Given the description of an element on the screen output the (x, y) to click on. 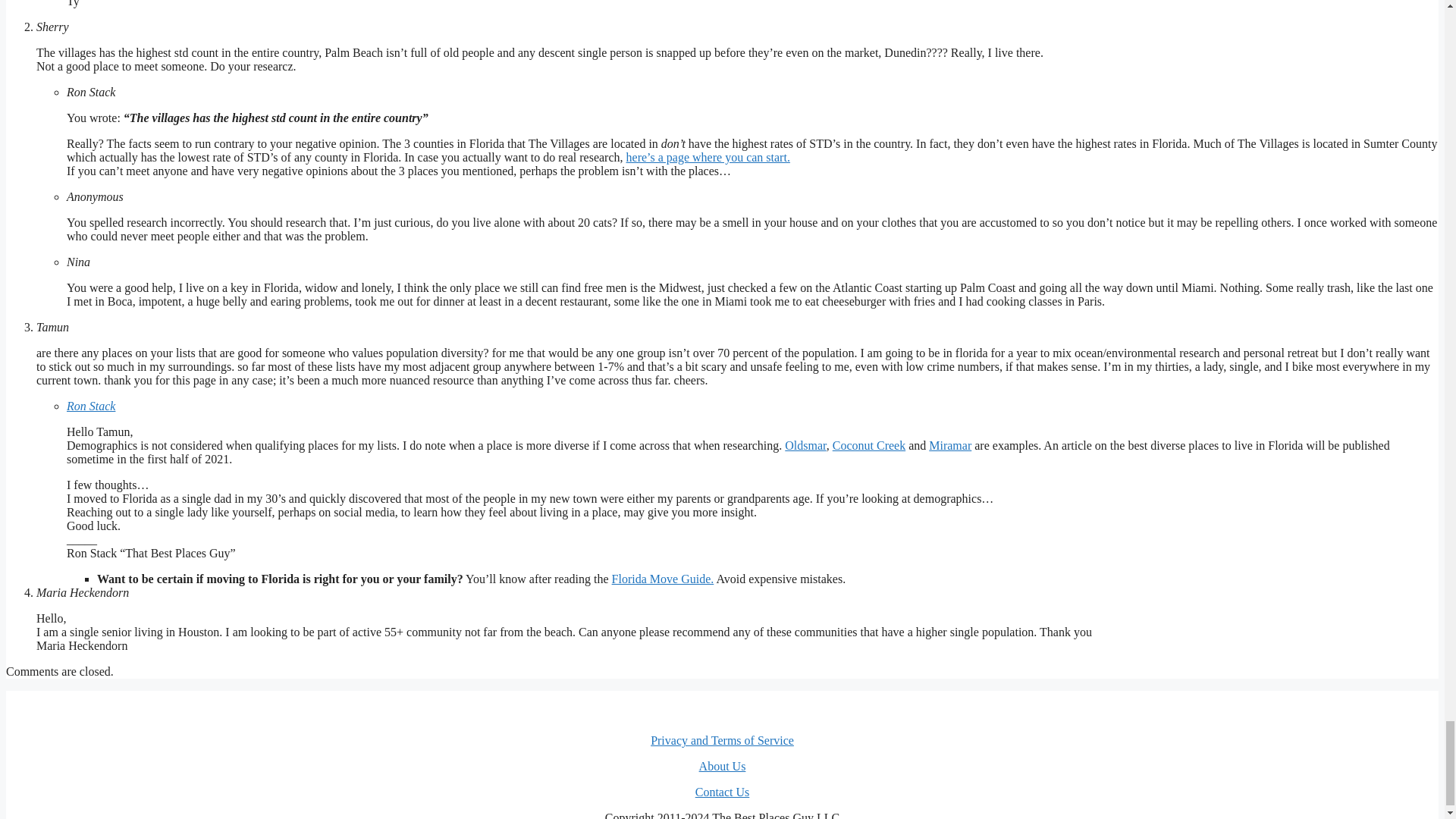
Privacy and Terms of Service (721, 739)
Miramar (949, 445)
Florida Move Guide. (662, 578)
Oldsmar (804, 445)
Contact Us (722, 791)
Ron Stack (90, 405)
Coconut Creek (868, 445)
About Us (721, 766)
